Given the description of an element on the screen output the (x, y) to click on. 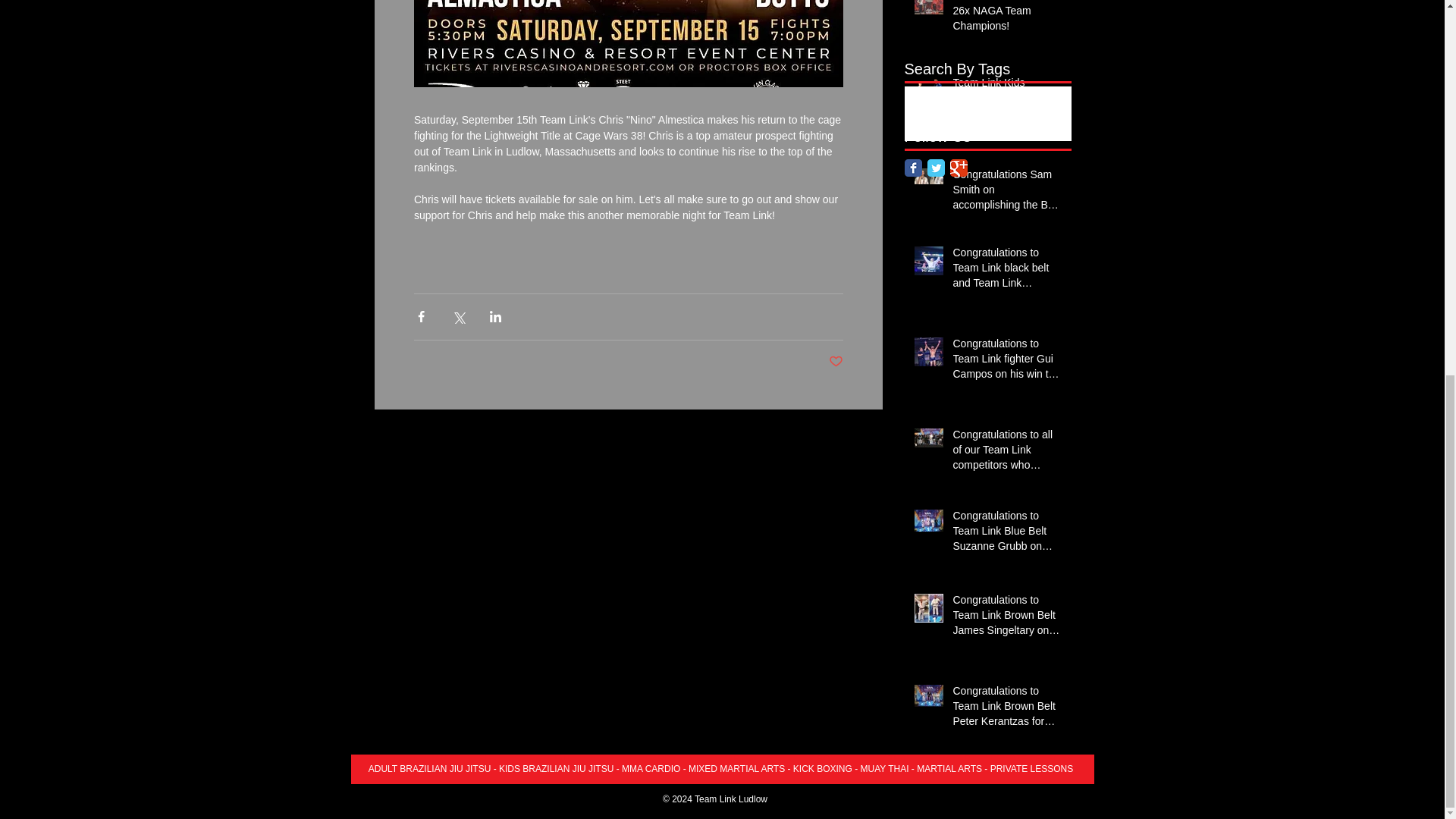
Post not marked as liked (835, 361)
Team Link Kids Brazilian Jiu Jitsu (1006, 93)
Team Link Becomes 26x NAGA Team Champions! (1006, 19)
